Given the description of an element on the screen output the (x, y) to click on. 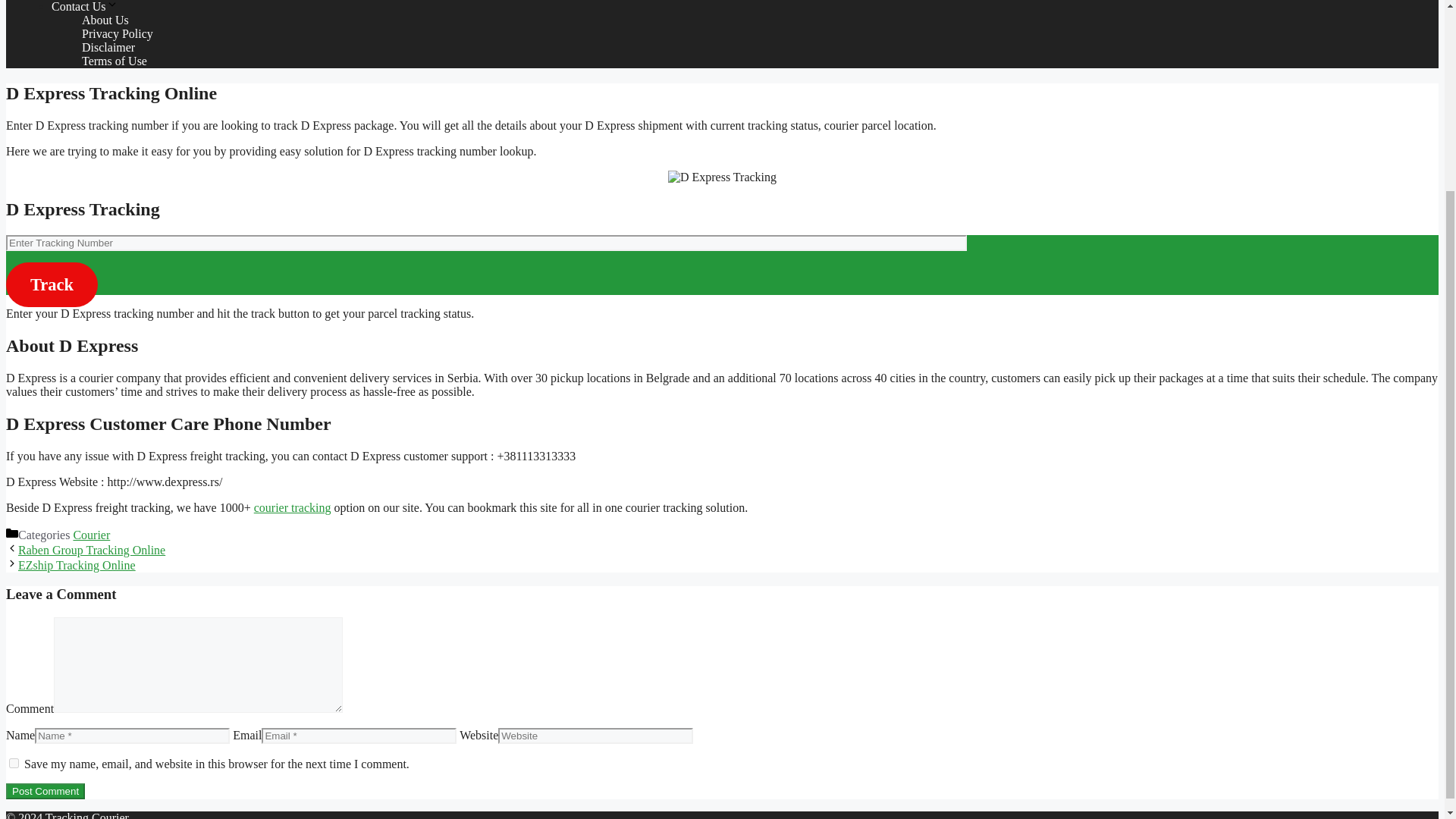
Courier (91, 534)
EZship Tracking Online (76, 564)
Privacy Policy (116, 33)
Raben Group Tracking Online (91, 549)
yes (13, 763)
Contact Us (83, 6)
courier tracking (292, 507)
Terms of Use (114, 60)
Track (51, 284)
Post Comment (44, 790)
About Us (105, 19)
Disclaimer (108, 47)
Post Comment (44, 790)
